Given the description of an element on the screen output the (x, y) to click on. 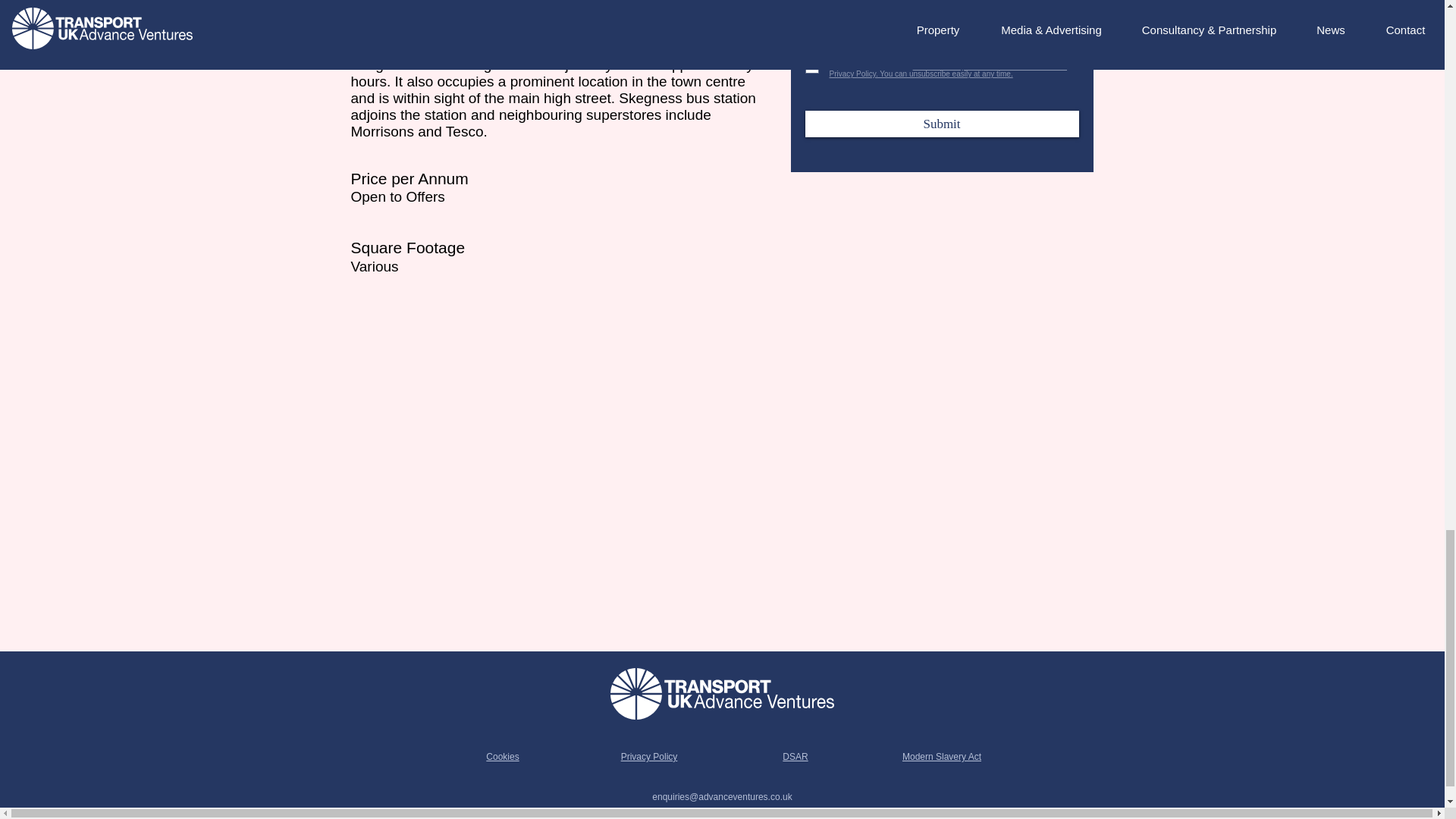
Submit (941, 123)
Modern Slavery Act (941, 756)
